Given the description of an element on the screen output the (x, y) to click on. 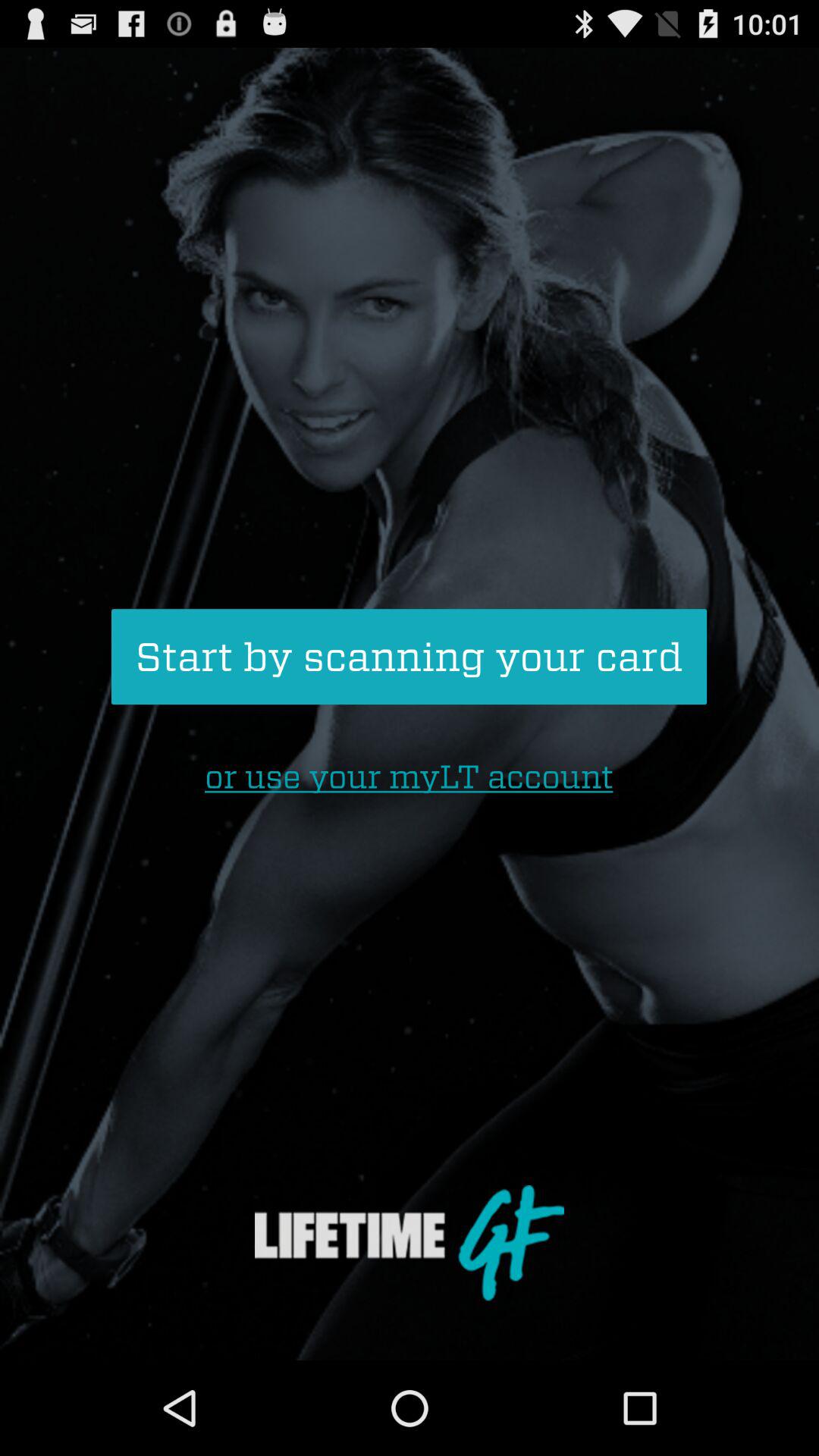
click the item above the or use your icon (408, 656)
